Given the description of an element on the screen output the (x, y) to click on. 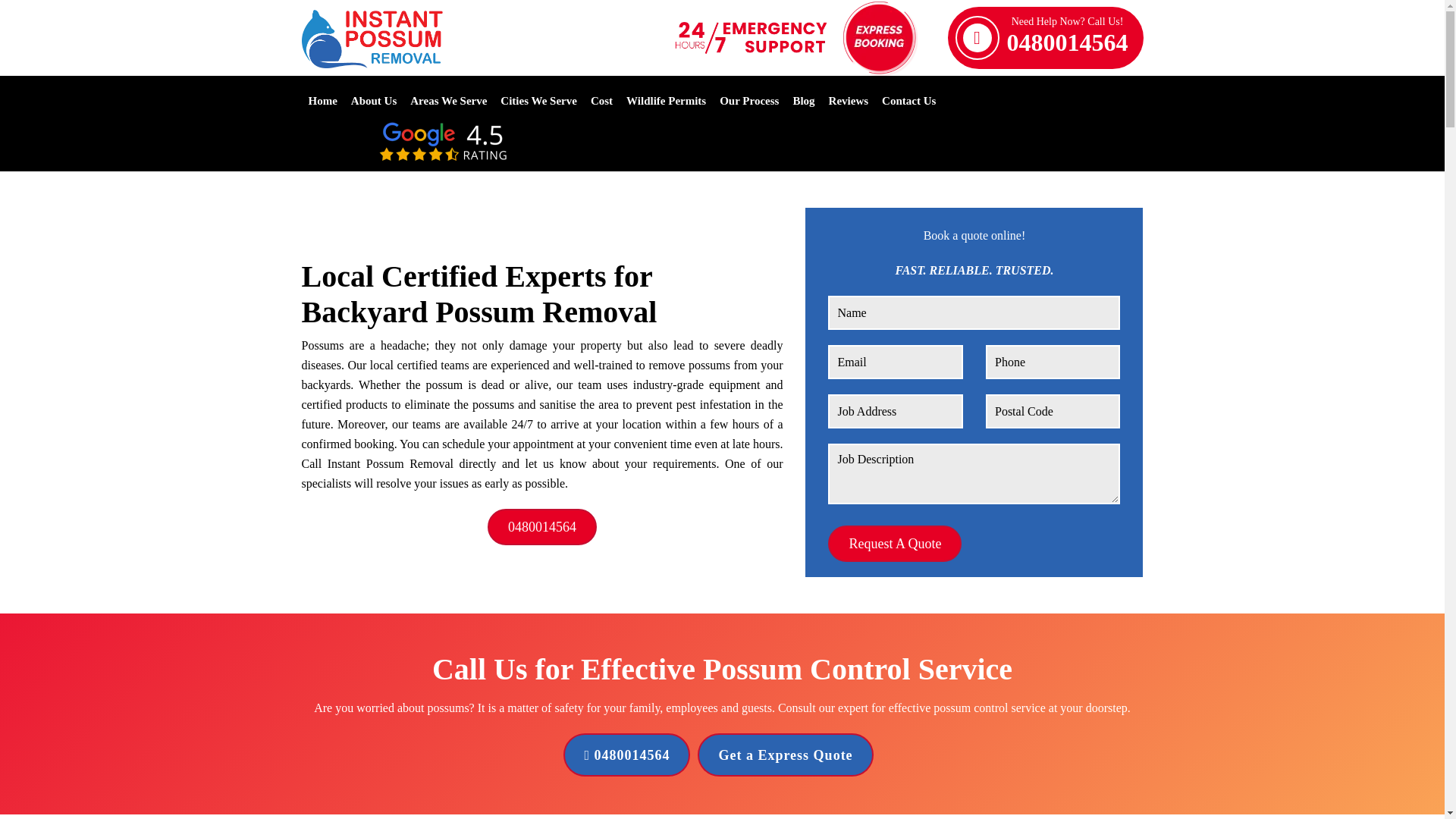
Home (321, 100)
0480014564 (541, 526)
0480014564 (626, 754)
Cities We Serve (538, 100)
Reviews (848, 100)
Our Process (748, 100)
Blog (802, 100)
Cost (601, 100)
Request A Quote (894, 543)
Contact Us (909, 100)
